Given the description of an element on the screen output the (x, y) to click on. 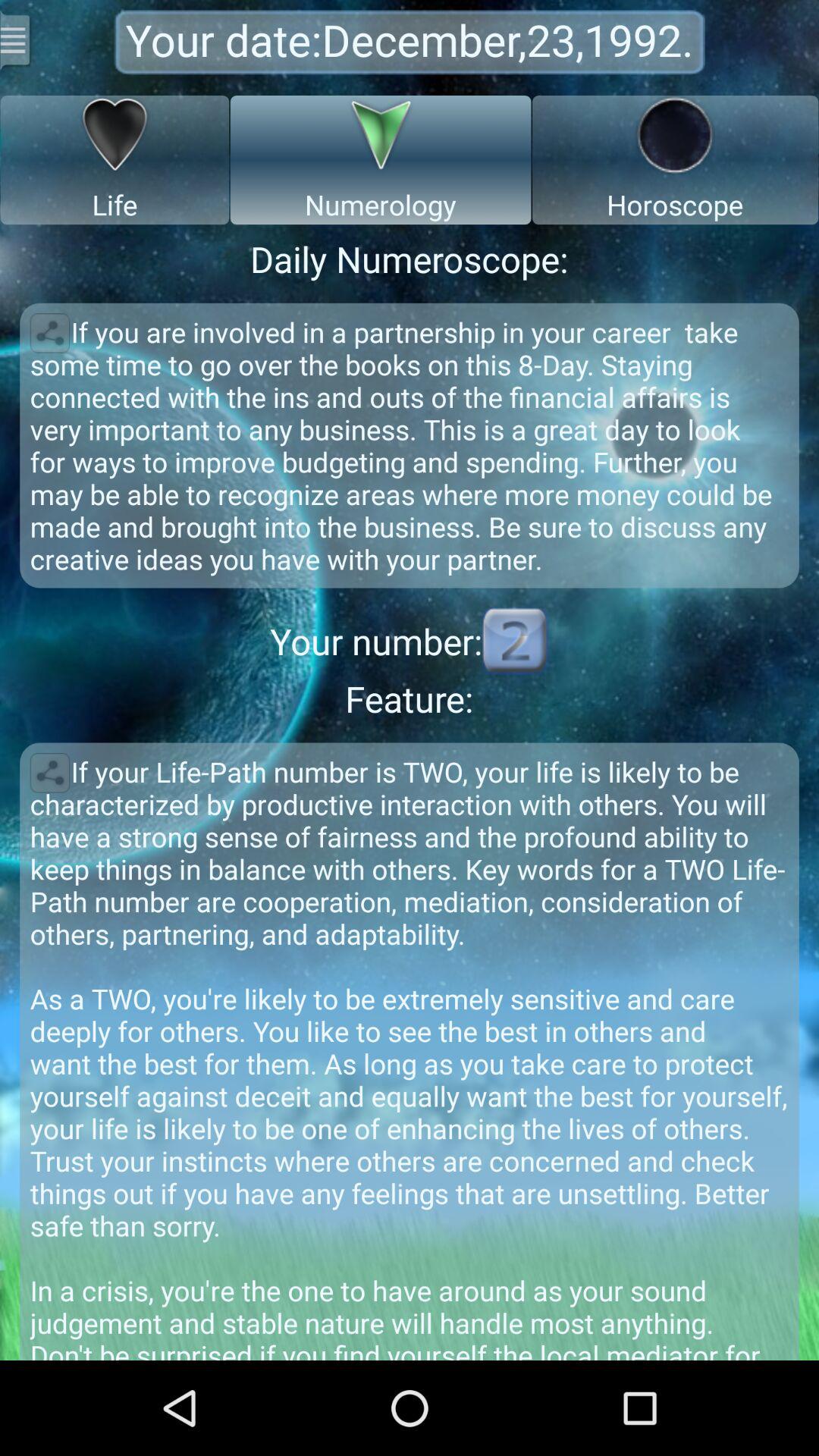
share horoscope (49, 333)
